Given the description of an element on the screen output the (x, y) to click on. 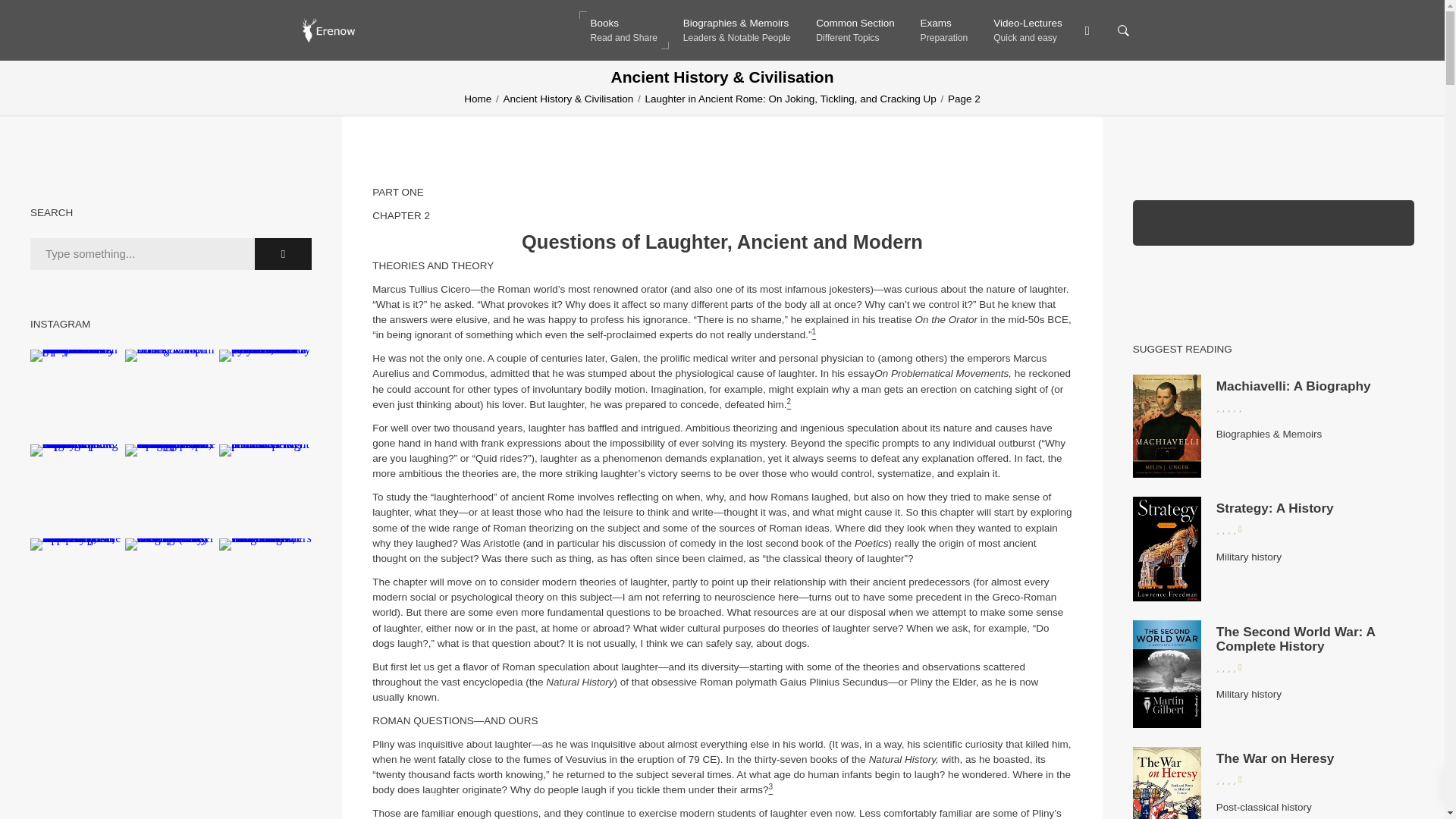
The War on Heresy (1275, 758)
Strategy: A History (1027, 30)
Home (1274, 507)
The Second World War: A Complete History (623, 30)
Machiavelli: A Biography (855, 30)
